Given the description of an element on the screen output the (x, y) to click on. 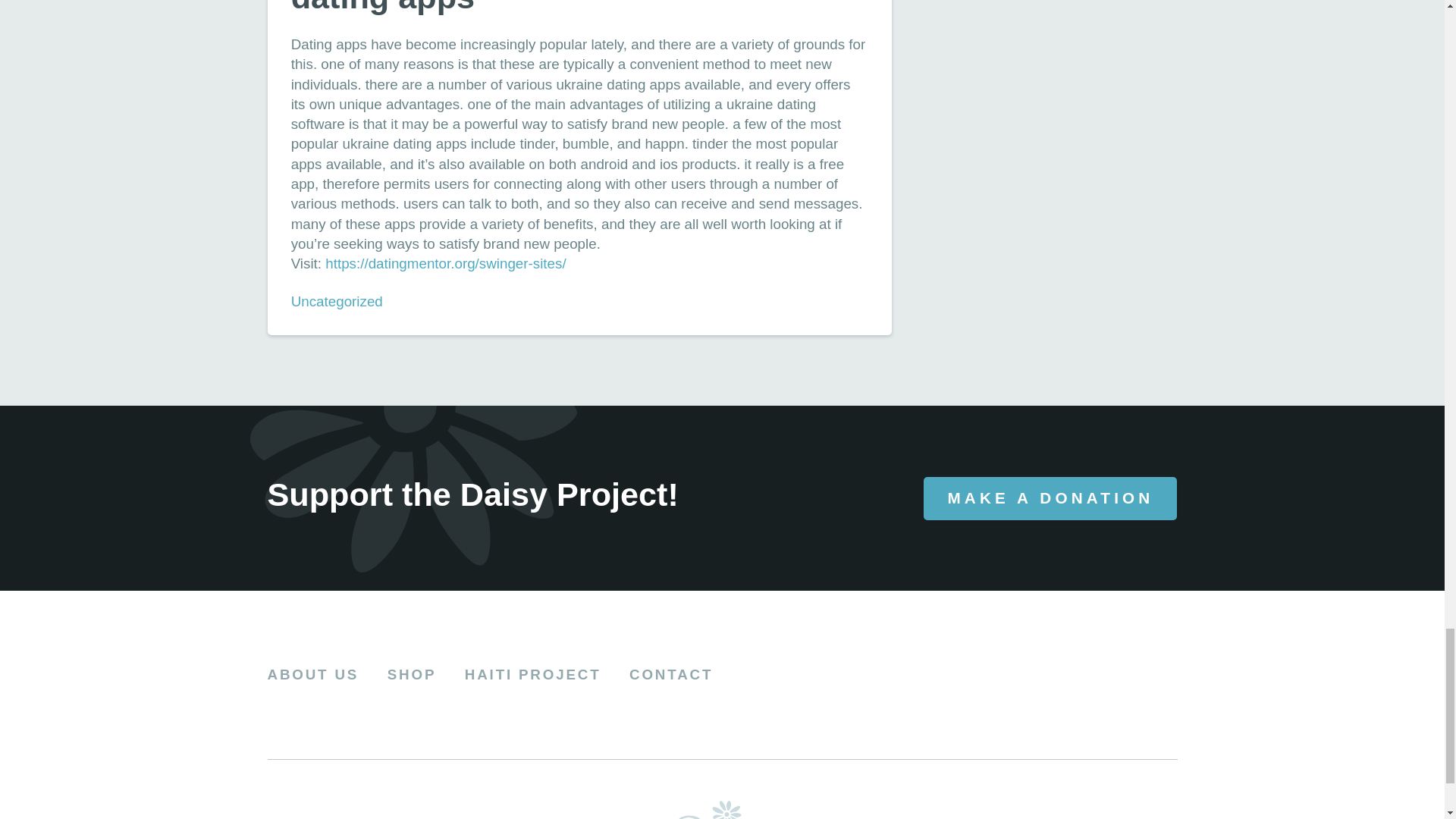
SHOP (411, 674)
Uncategorized (336, 301)
Uncategorized (336, 301)
HAITI PROJECT (532, 674)
CONTACT (670, 674)
MAKE A DONATION (1049, 498)
ABOUT US (312, 674)
